Given the description of an element on the screen output the (x, y) to click on. 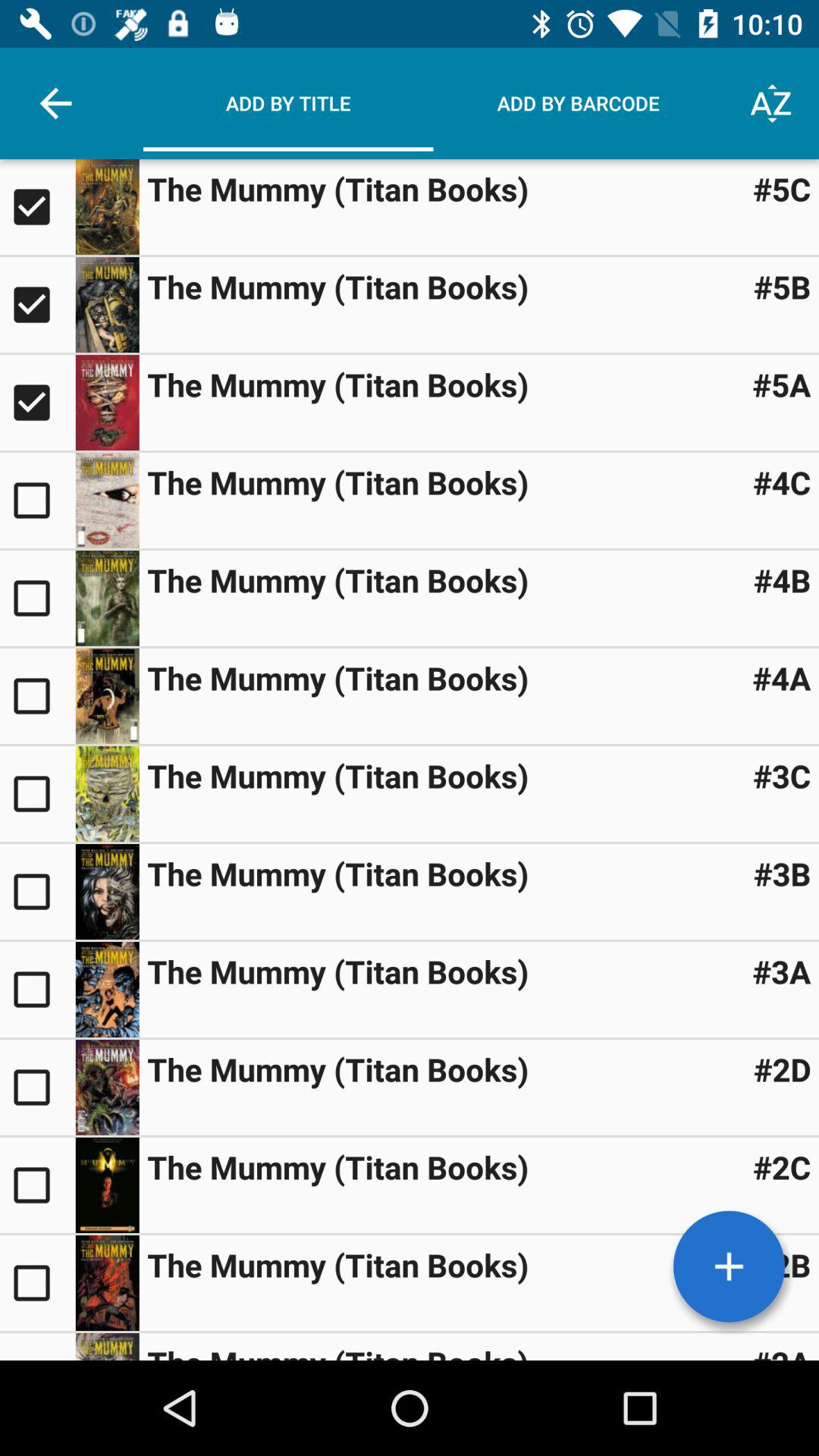
select a book (37, 1346)
